Given the description of an element on the screen output the (x, y) to click on. 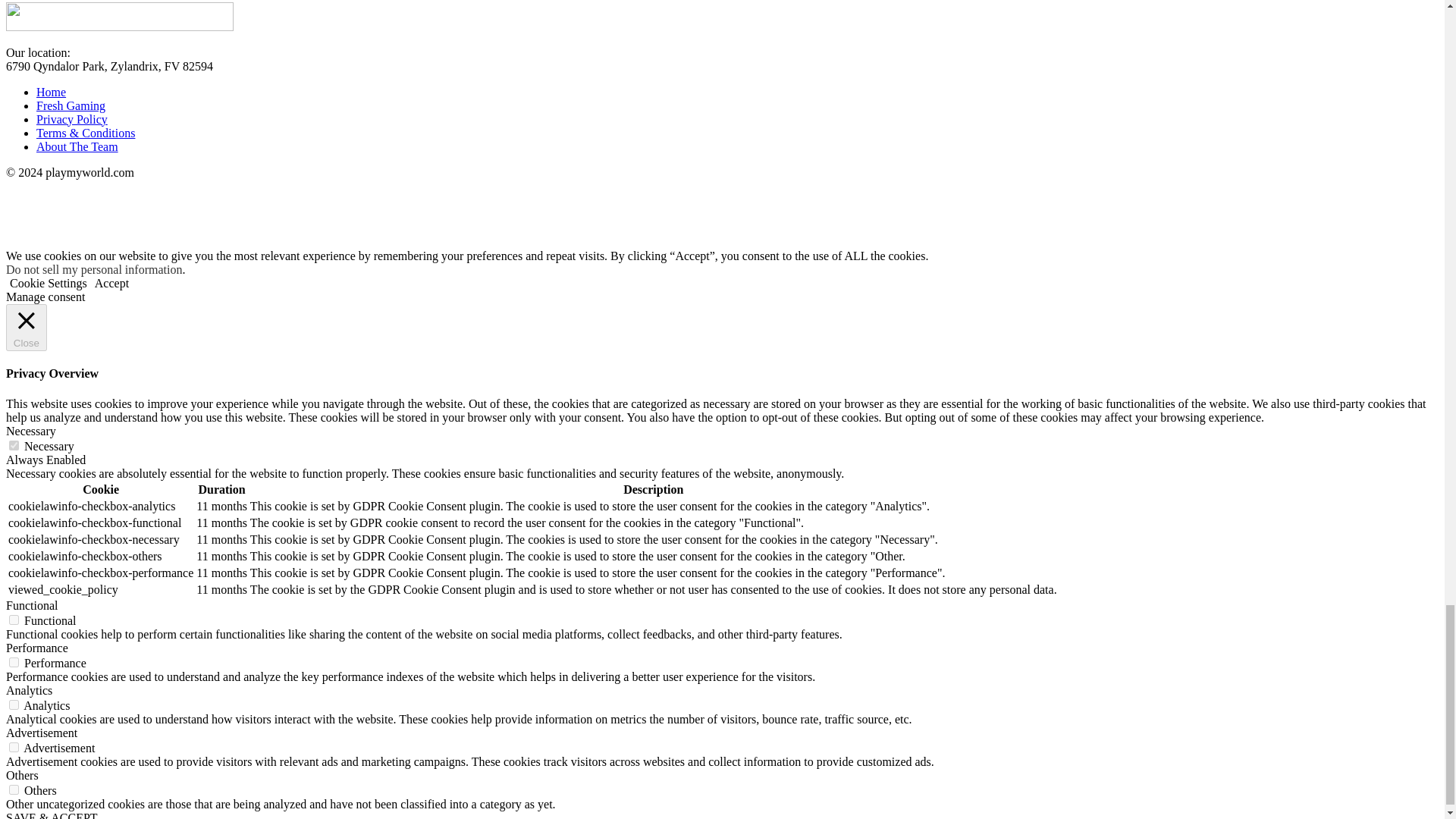
on (13, 705)
on (13, 445)
on (13, 747)
on (13, 789)
on (13, 619)
on (13, 662)
